Given the description of an element on the screen output the (x, y) to click on. 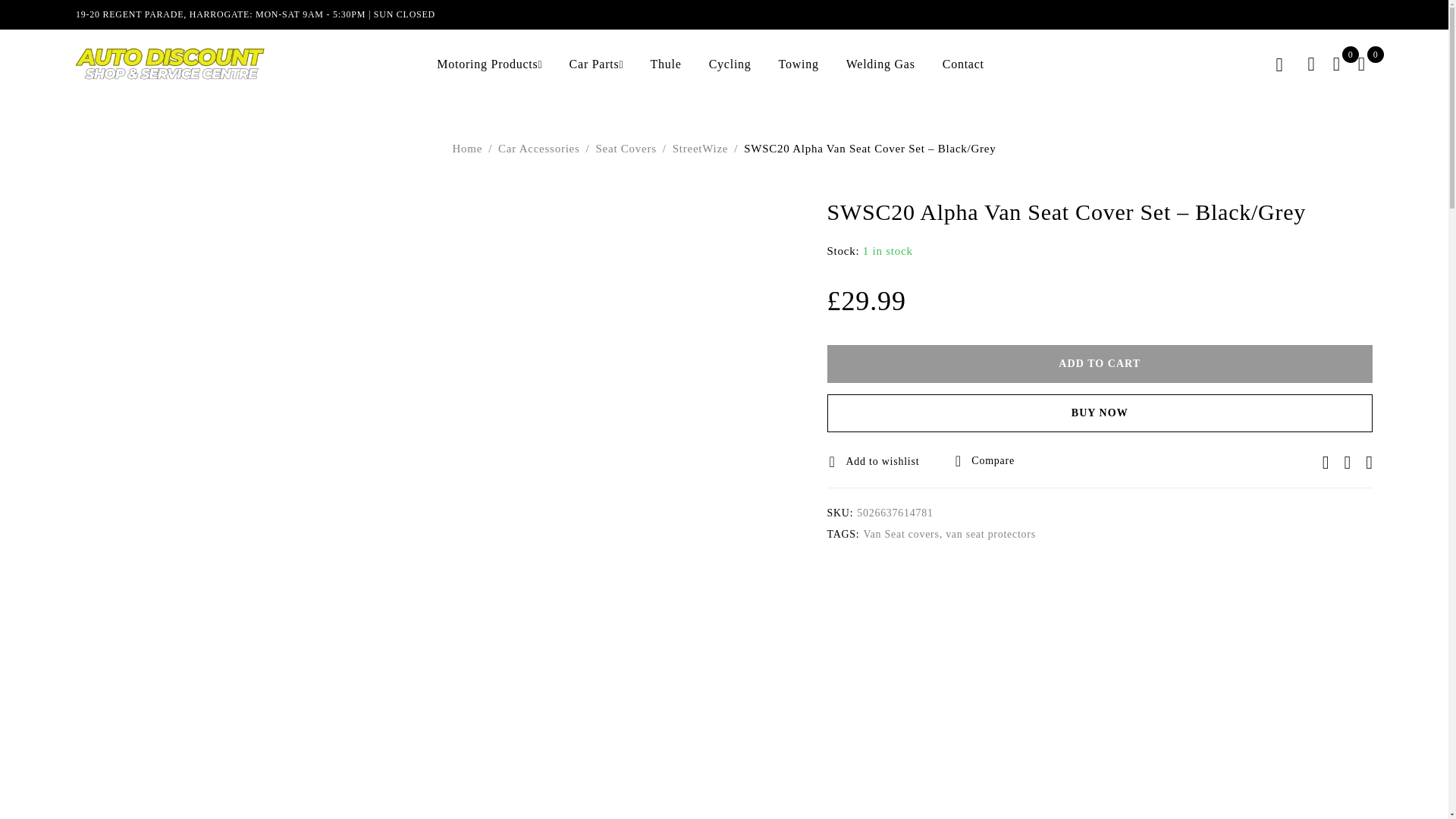
Car Parts (594, 63)
Car Accessories (538, 148)
Cycling (730, 63)
Motoring Products (486, 63)
Towing (798, 63)
Contact (963, 63)
Welding Gas (880, 63)
Home (467, 148)
Auto Discount (169, 63)
Thule (665, 63)
